Given the description of an element on the screen output the (x, y) to click on. 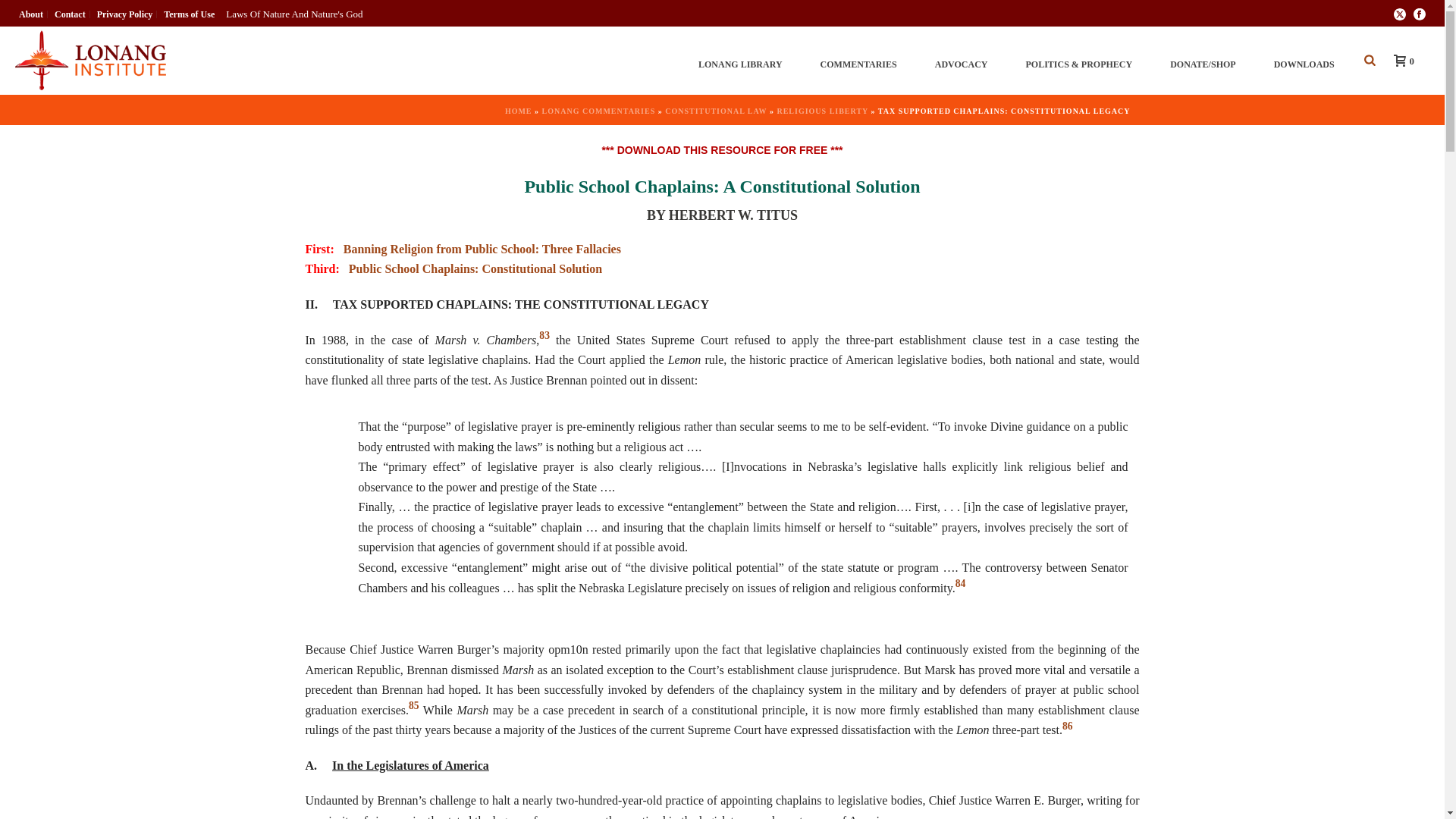
ADVOCACY (961, 60)
DOWNLOADS (1304, 60)
LONANG LIBRARY (740, 60)
Terms of Use (189, 14)
COMMENTARIES (858, 60)
About (31, 14)
The Laws Of Nature And Natures God (89, 60)
COMMENTARIES (858, 60)
Contact (70, 14)
Privacy Policy (125, 14)
LONANG LIBRARY (740, 60)
ADVOCACY (961, 60)
0 (1400, 60)
DOWNLOADS (1304, 60)
